Given the description of an element on the screen output the (x, y) to click on. 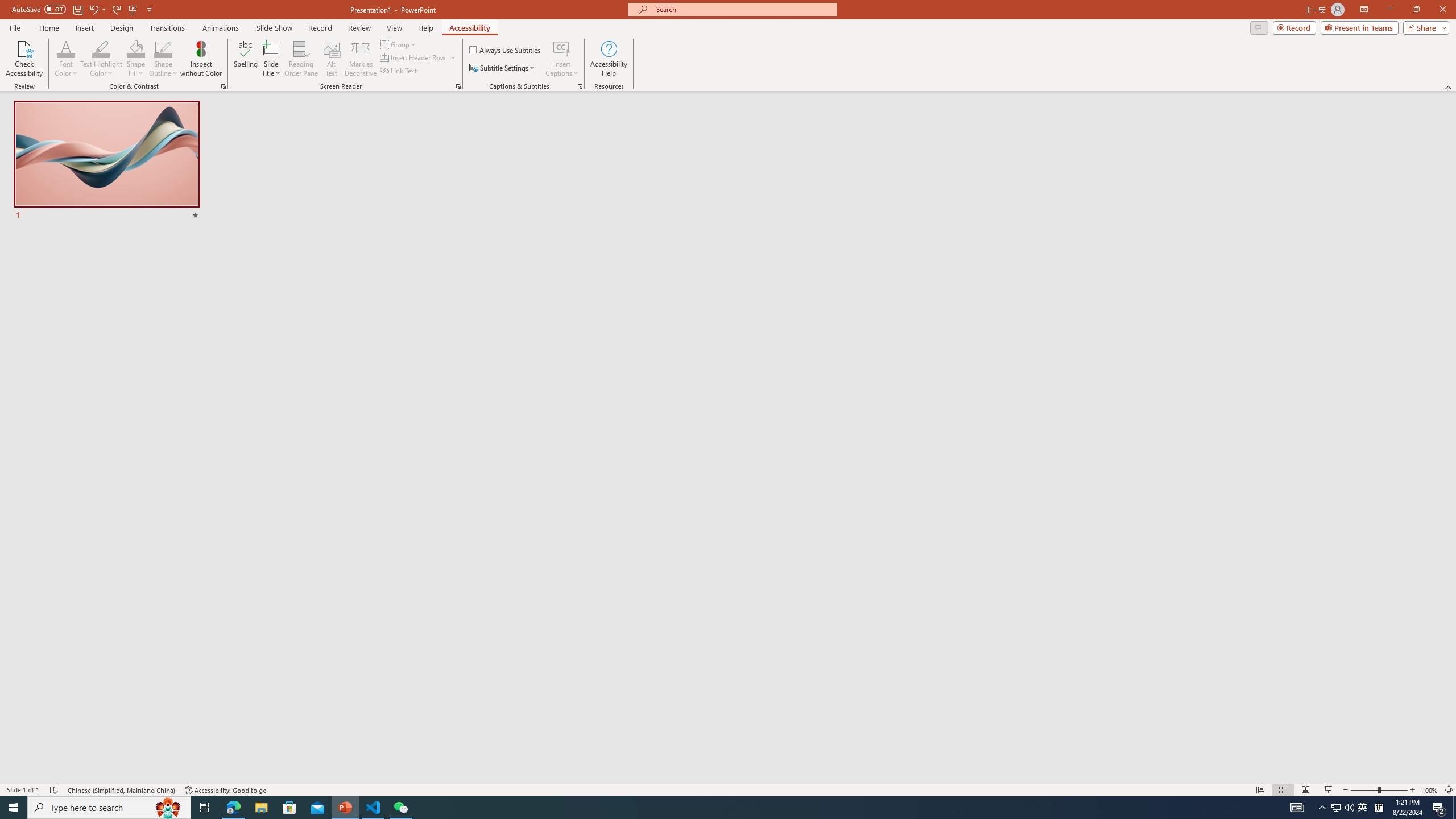
Accessibility Checker Accessibility: Good to go (226, 790)
Insert Captions (561, 58)
Mark as Decorative (360, 58)
Color & Contrast (223, 85)
Accessibility Help (608, 58)
